Given the description of an element on the screen output the (x, y) to click on. 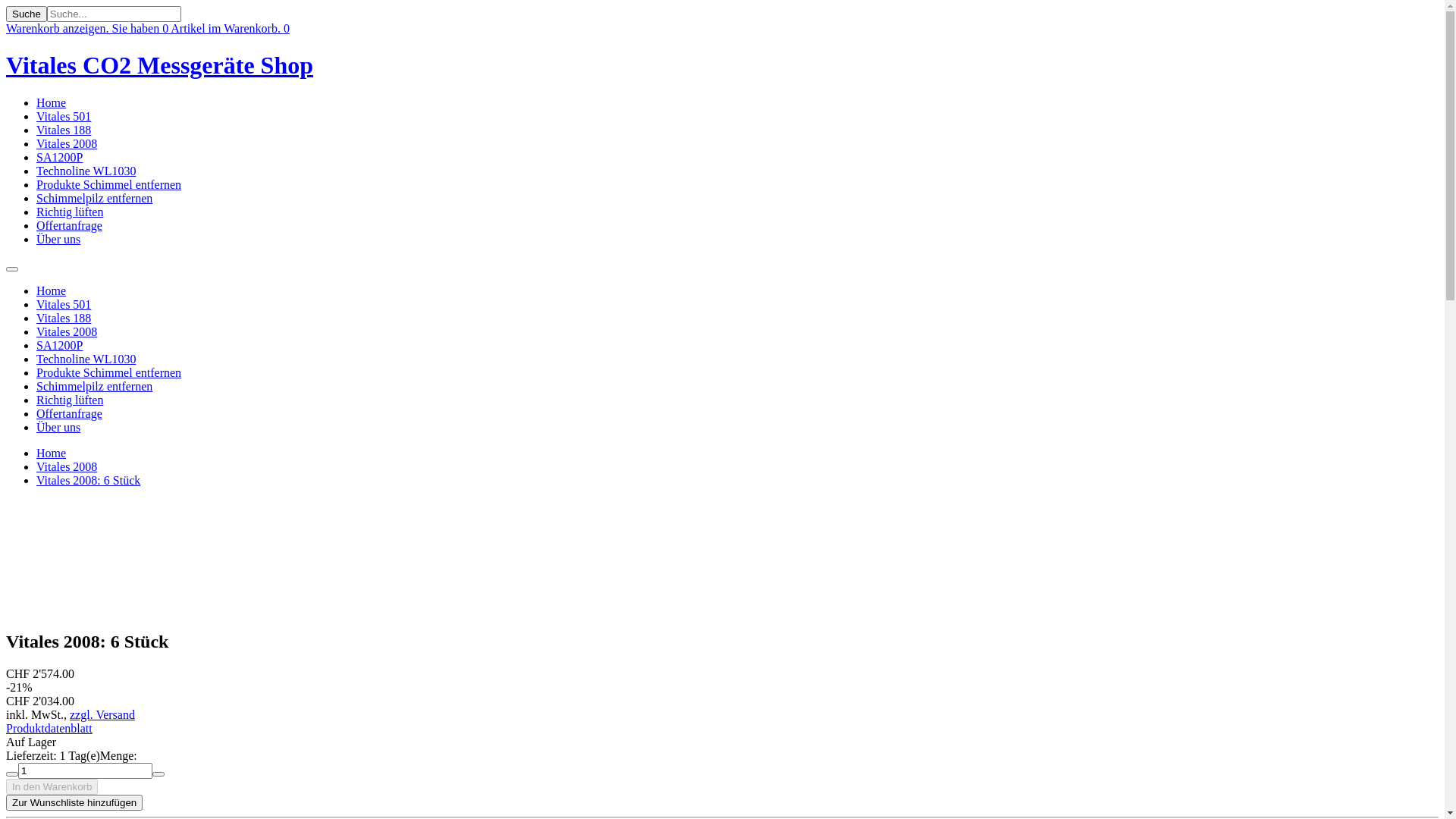
Vitales 188 Element type: text (63, 317)
Produkte Schimmel entfernen Element type: text (108, 372)
Vitales 188 Element type: text (63, 129)
Offertanfrage Element type: text (69, 225)
Home Element type: text (50, 102)
Produkte Schimmel entfernen Element type: text (108, 184)
SA1200P Element type: text (59, 344)
Warenkorb anzeigen. Sie haben 0 Artikel im Warenkorb. 0 Element type: text (147, 27)
In den Warenkorb Element type: text (51, 786)
Schimmelpilz entfernen Element type: text (94, 385)
Technoline WL1030 Element type: text (85, 358)
zzgl. Versand Element type: text (101, 714)
Vitales 2008 Element type: text (66, 143)
Home Element type: text (50, 290)
Produktdatenblatt Element type: text (49, 727)
Suche Element type: text (26, 13)
Offertanfrage Element type: text (69, 413)
SA1200P Element type: text (59, 156)
Vitales 501 Element type: text (63, 115)
Technoline WL1030 Element type: text (85, 170)
Vitales 2008 Element type: text (66, 331)
Home Element type: text (50, 452)
Vitales 501 Element type: text (63, 304)
Vitales 2008 Element type: text (66, 466)
Schimmelpilz entfernen Element type: text (94, 197)
